Given the description of an element on the screen output the (x, y) to click on. 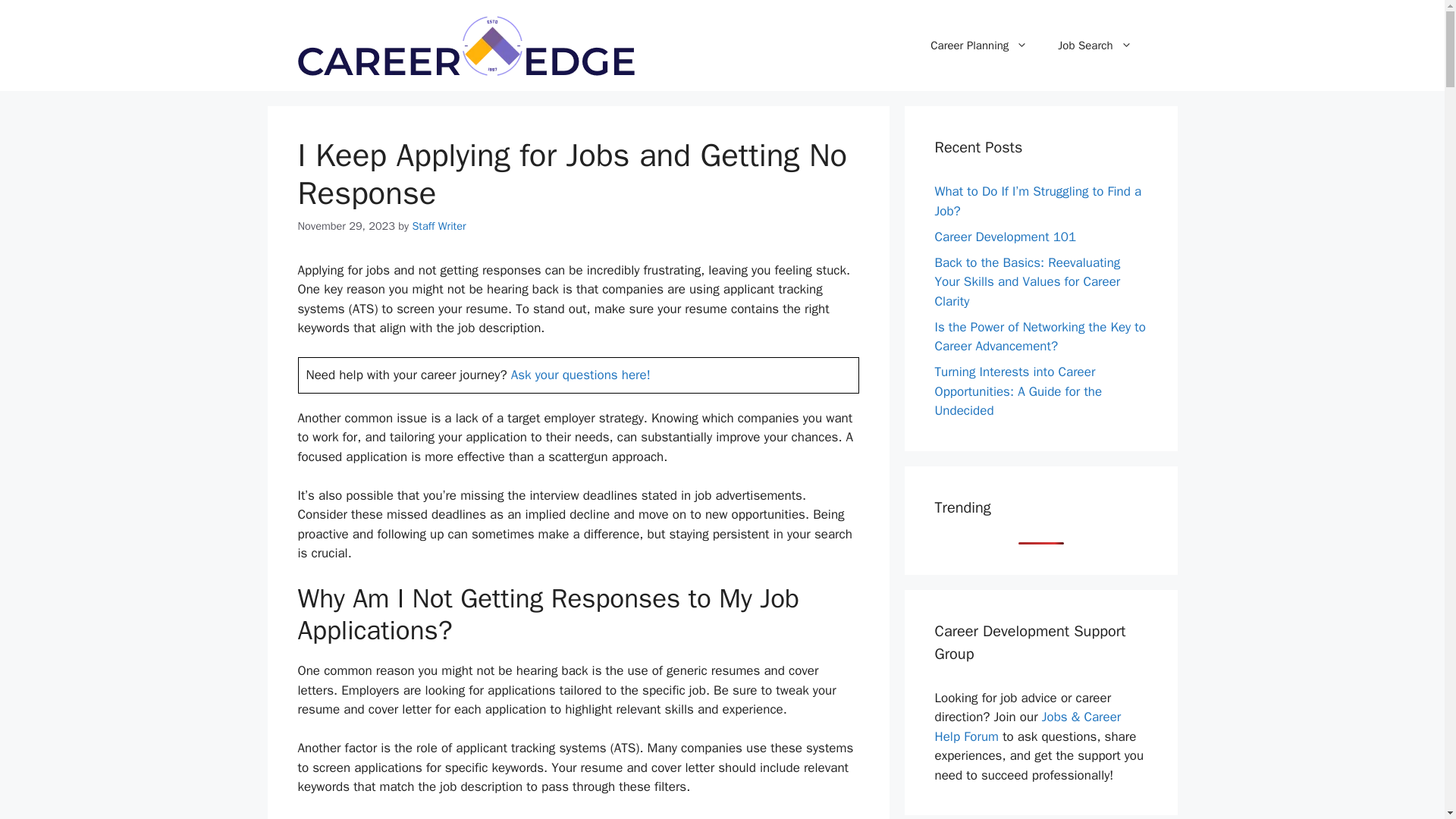
Ask your questions here! (580, 374)
Career Planning (978, 44)
Job Search (1094, 44)
Is the Power of Networking the Key to Career Advancement? (1039, 335)
View all posts by Staff Writer (438, 225)
Staff Writer (438, 225)
Career Development 101 (1004, 236)
